Given the description of an element on the screen output the (x, y) to click on. 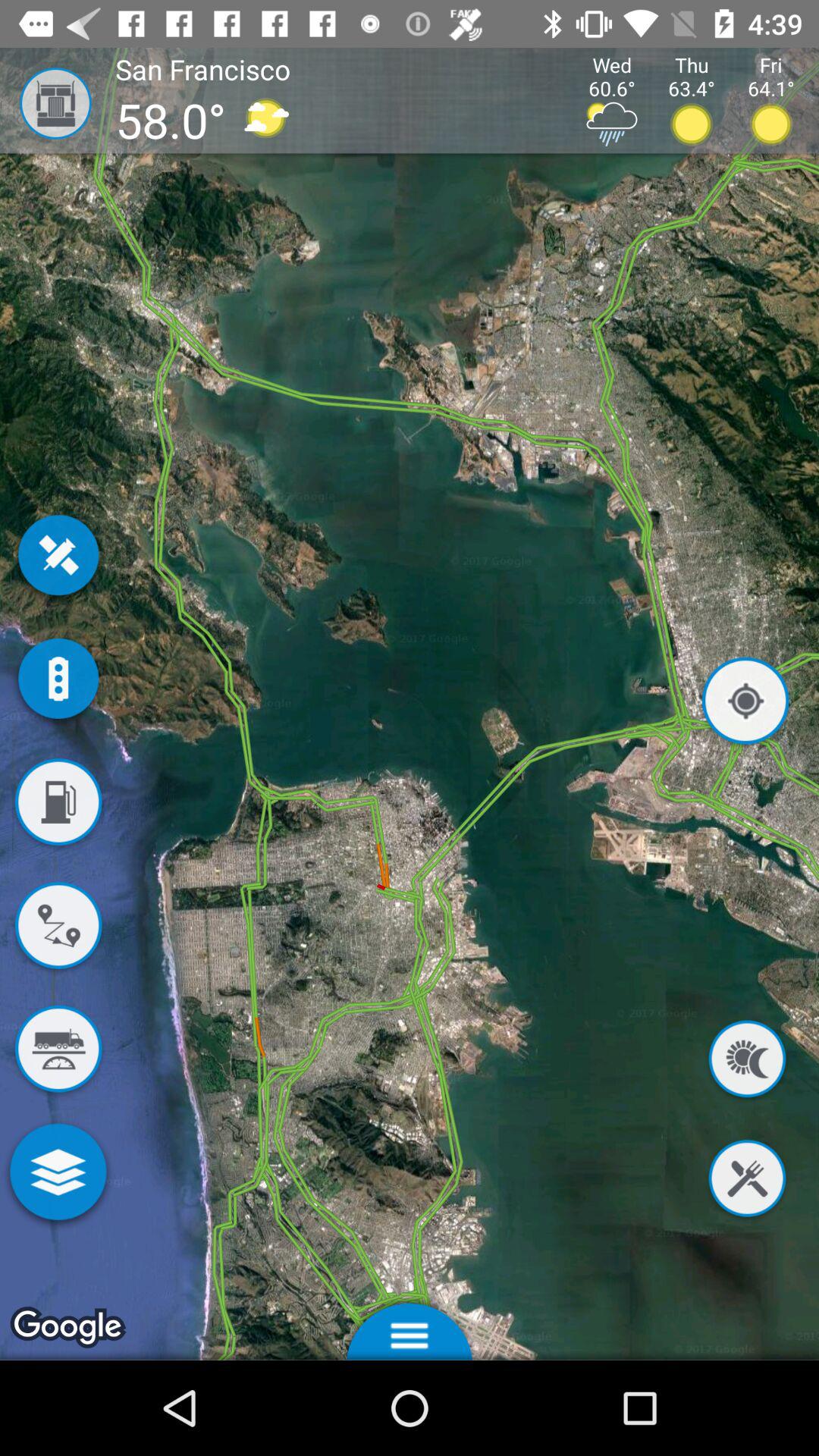
show gas stations (57, 804)
